Given the description of an element on the screen output the (x, y) to click on. 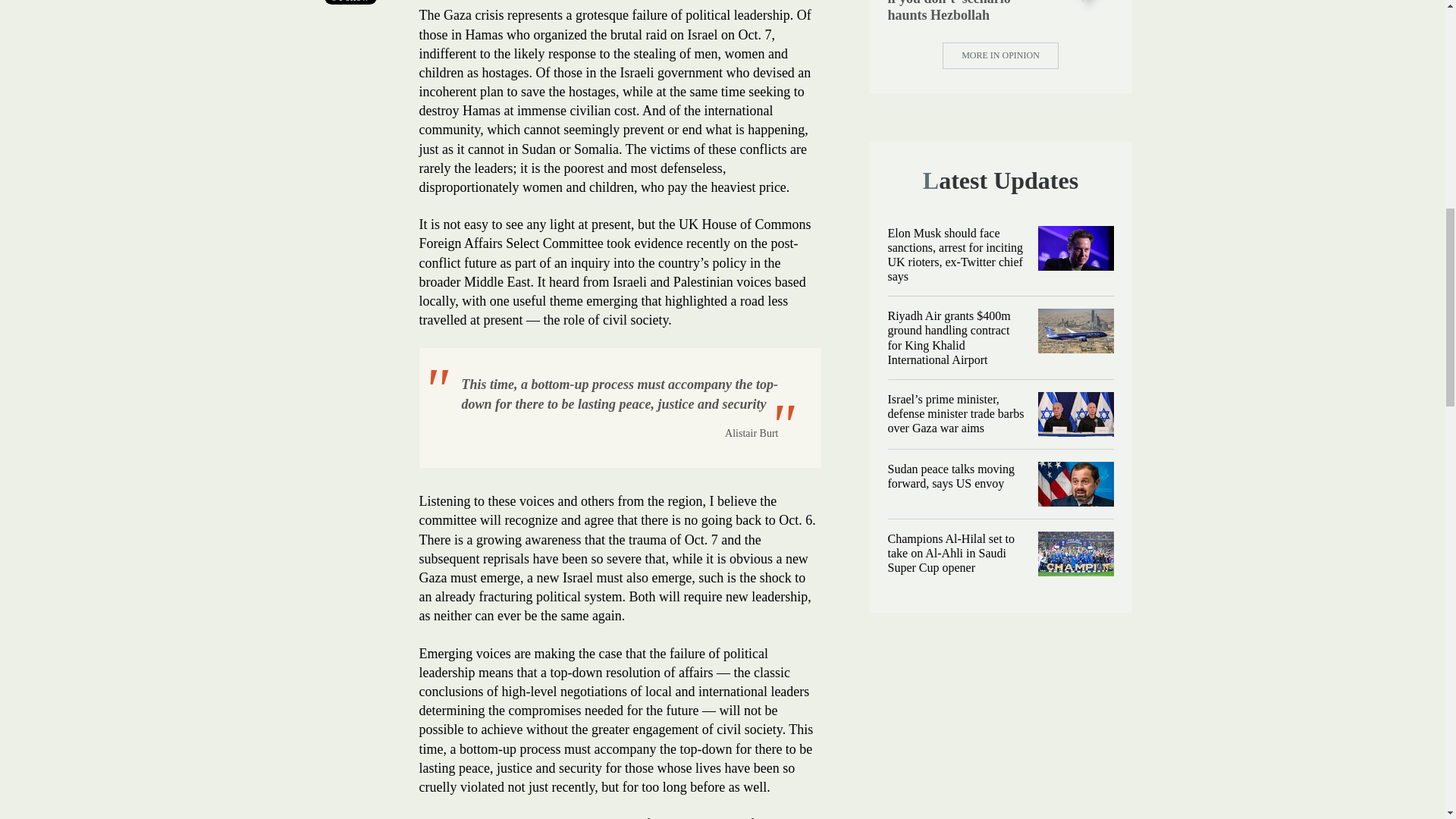
Dr. Dania Koleilat Khatib (1088, 6)
Sudan peace talks moving forward, says US envoy (1074, 483)
